Given the description of an element on the screen output the (x, y) to click on. 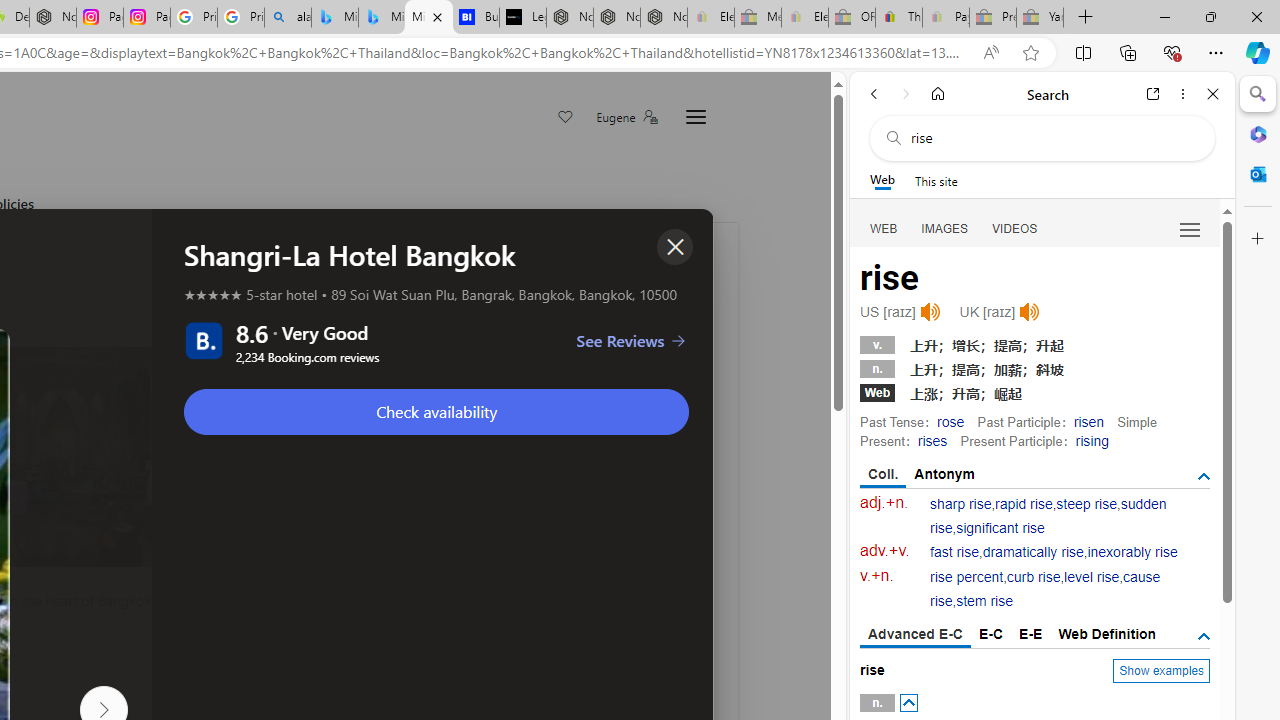
Microsoft Bing Travel - Shangri-La Hotel Bangkok (428, 17)
steep rise (1086, 503)
Microsoft Bing Travel - Flights from Hong Kong to Bangkok (335, 17)
inexorably rise (1131, 552)
Threats and offensive language policy | eBay (898, 17)
rise percent (966, 577)
